Given the description of an element on the screen output the (x, y) to click on. 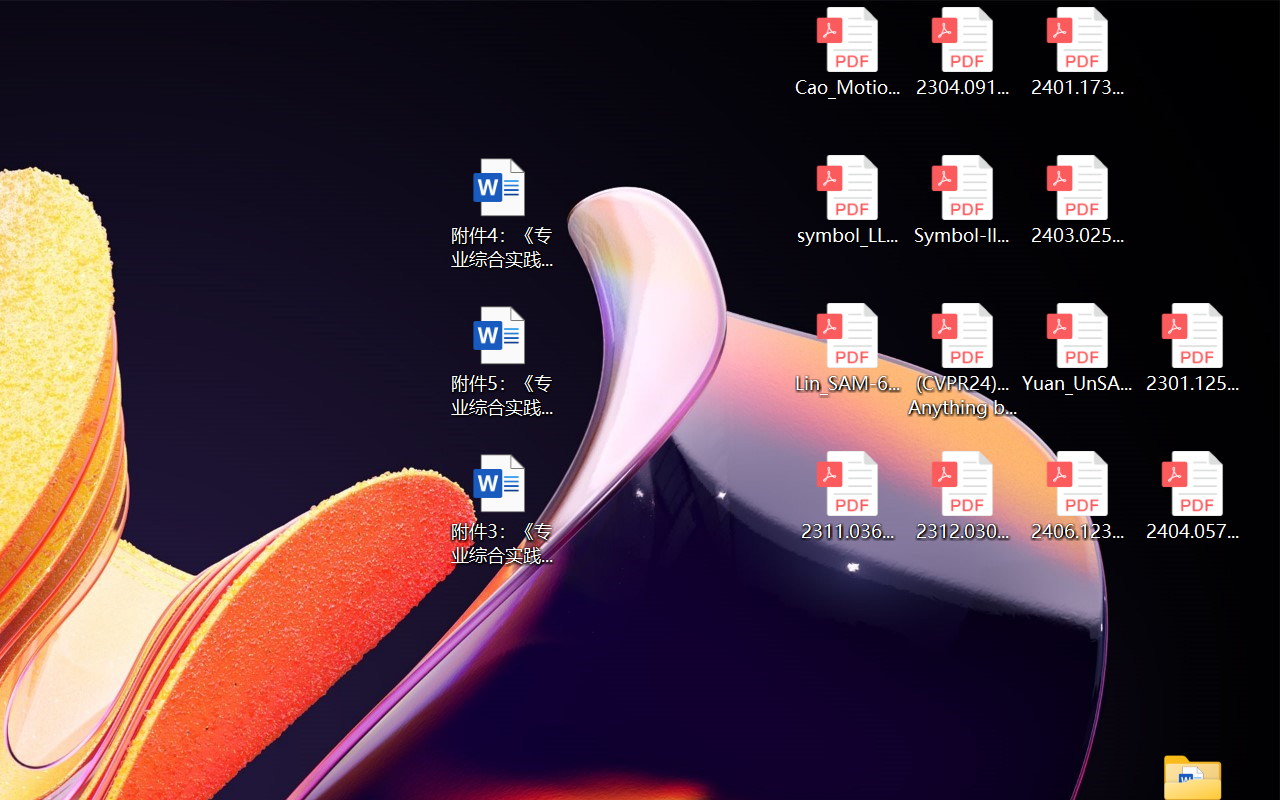
2404.05719v1.pdf (1192, 496)
